Given the description of an element on the screen output the (x, y) to click on. 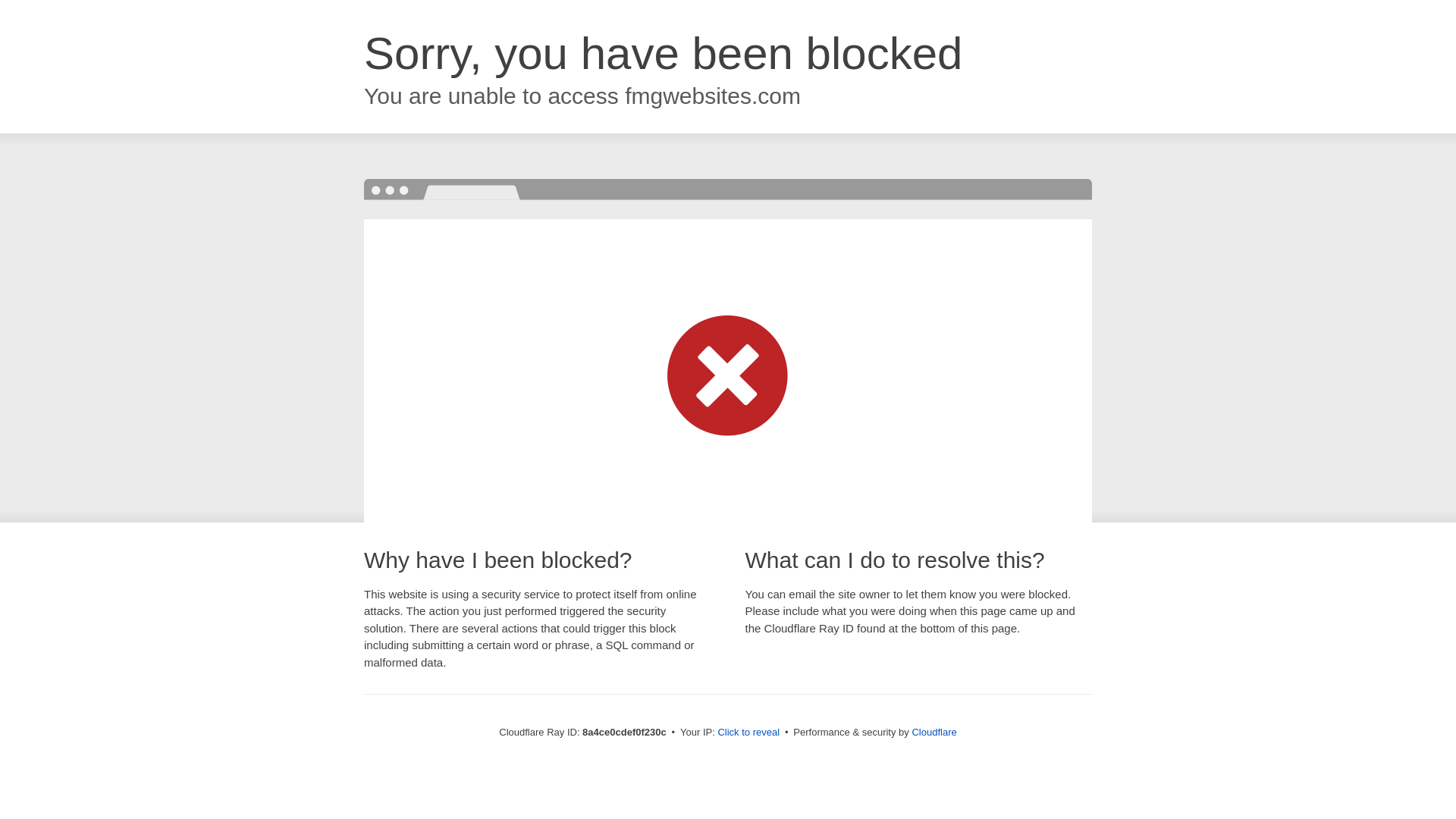
Click to reveal (747, 732)
Cloudflare (933, 731)
